Given the description of an element on the screen output the (x, y) to click on. 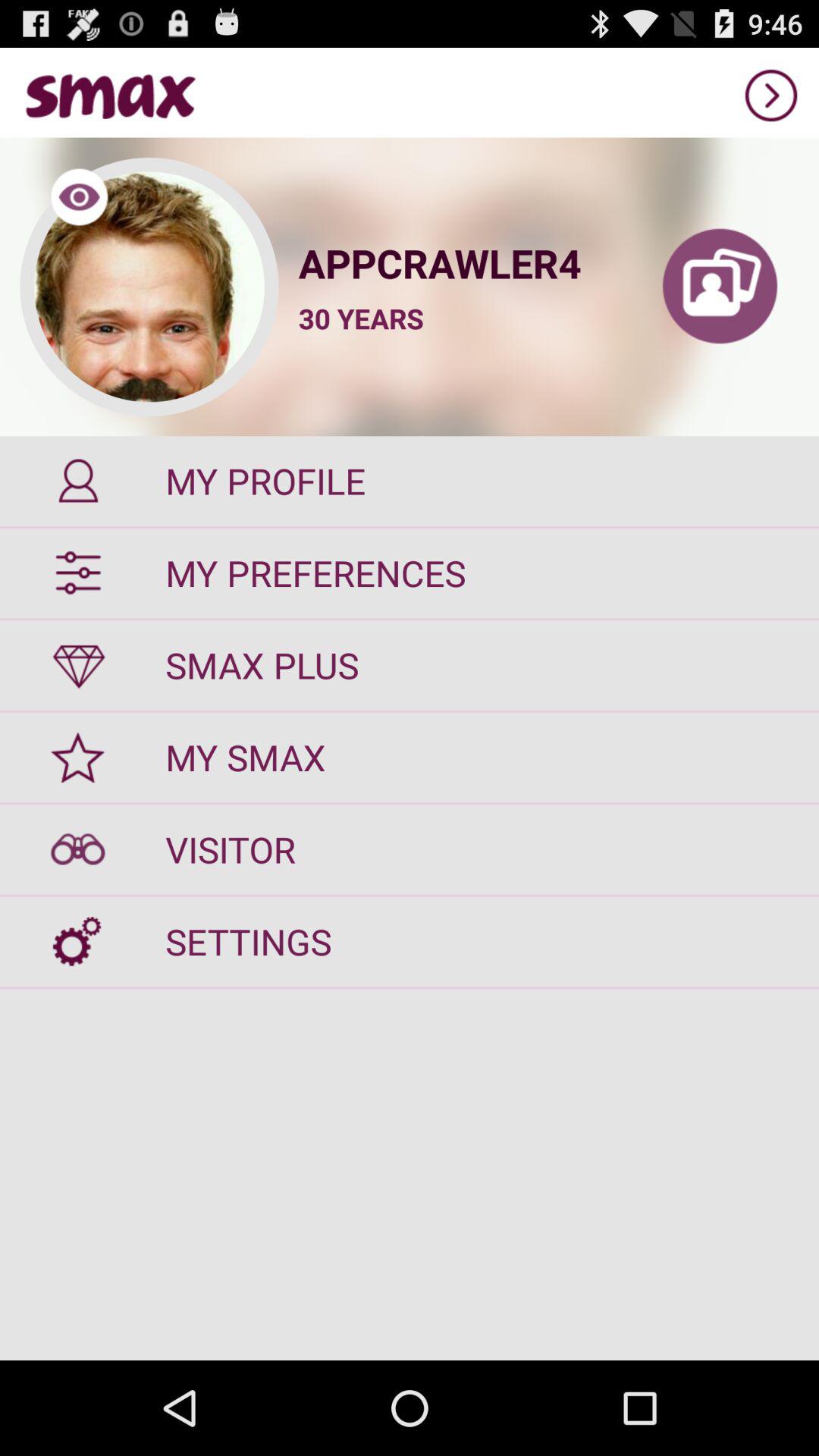
turn off the item to the right of appcrawler4 (719, 286)
